Given the description of an element on the screen output the (x, y) to click on. 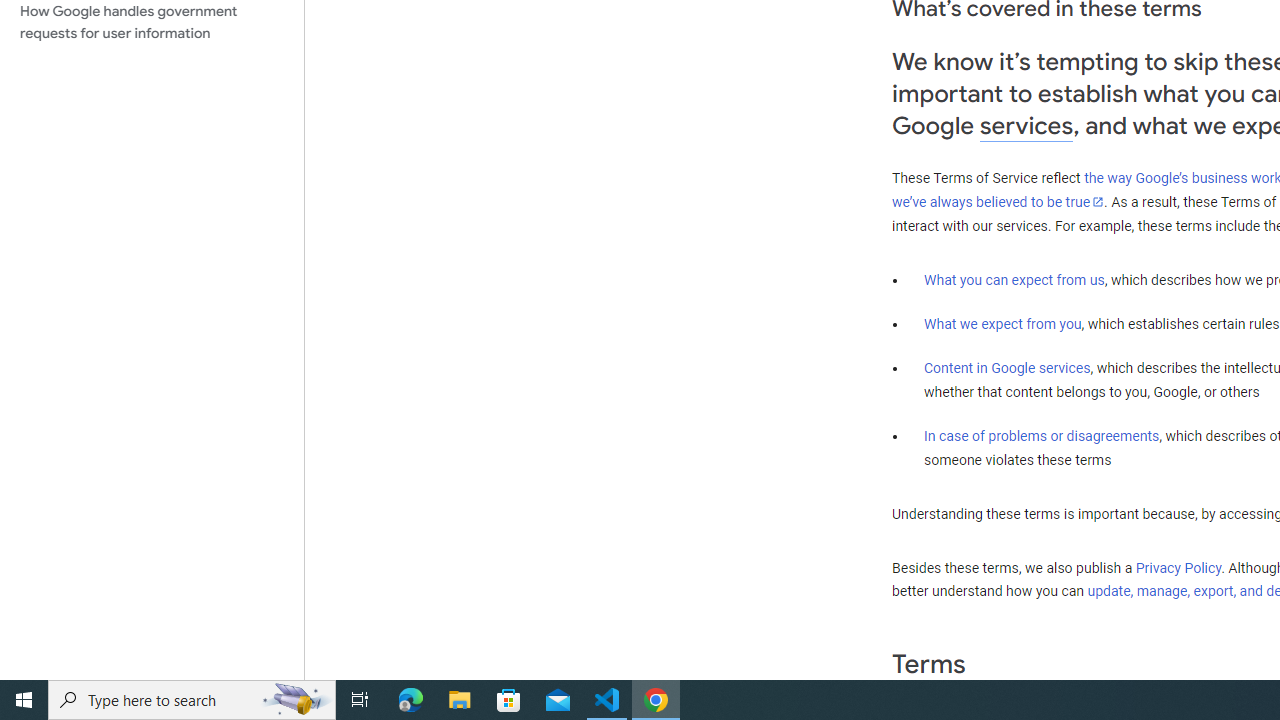
What we expect from you (1002, 323)
What you can expect from us (1014, 279)
Content in Google services (1007, 368)
services (1026, 125)
In case of problems or disagreements (1041, 435)
